Given the description of an element on the screen output the (x, y) to click on. 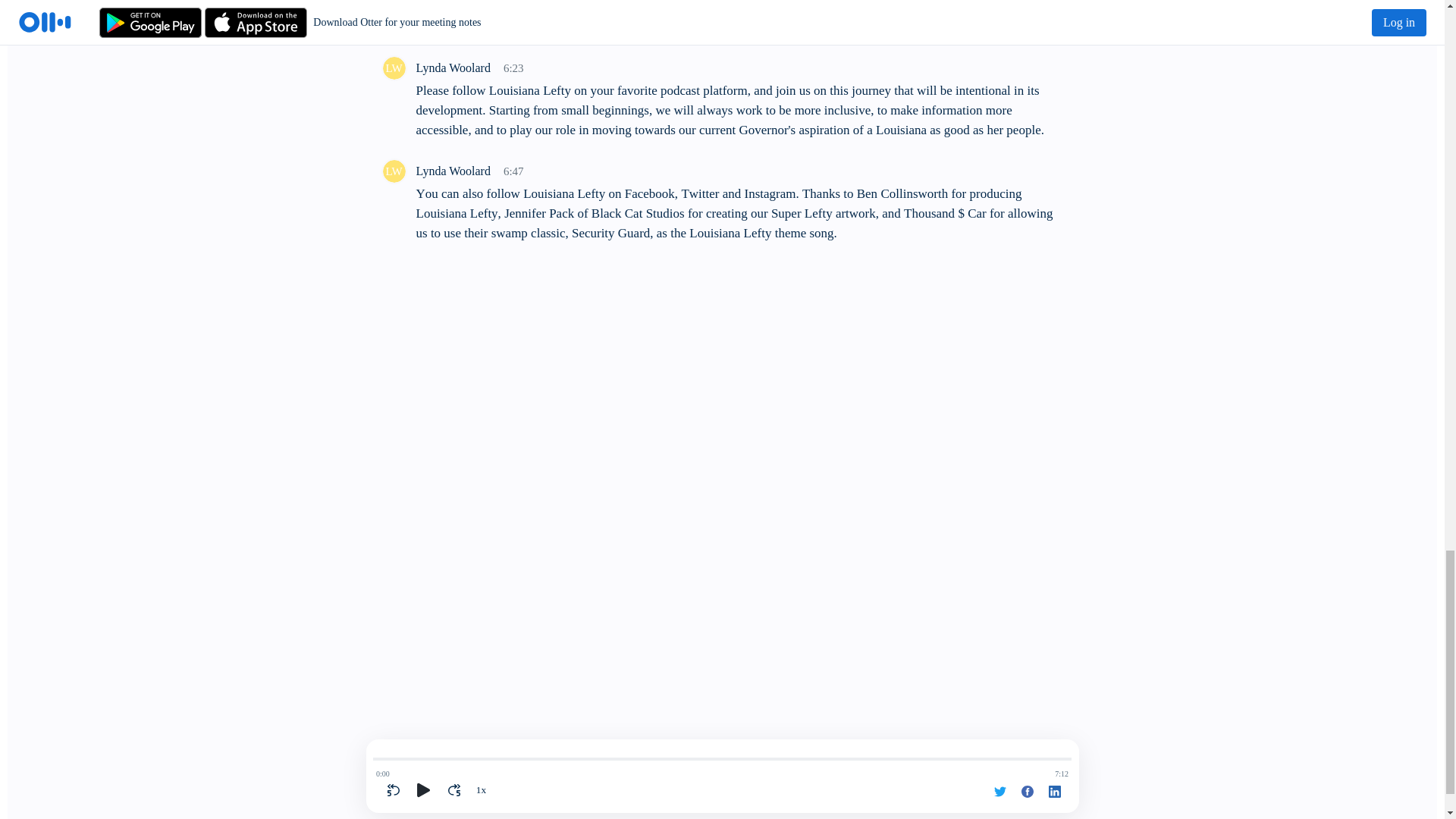
Lynda Woolard (392, 67)
Lynda Woolard (392, 170)
LW (393, 68)
LW (393, 171)
